Given the description of an element on the screen output the (x, y) to click on. 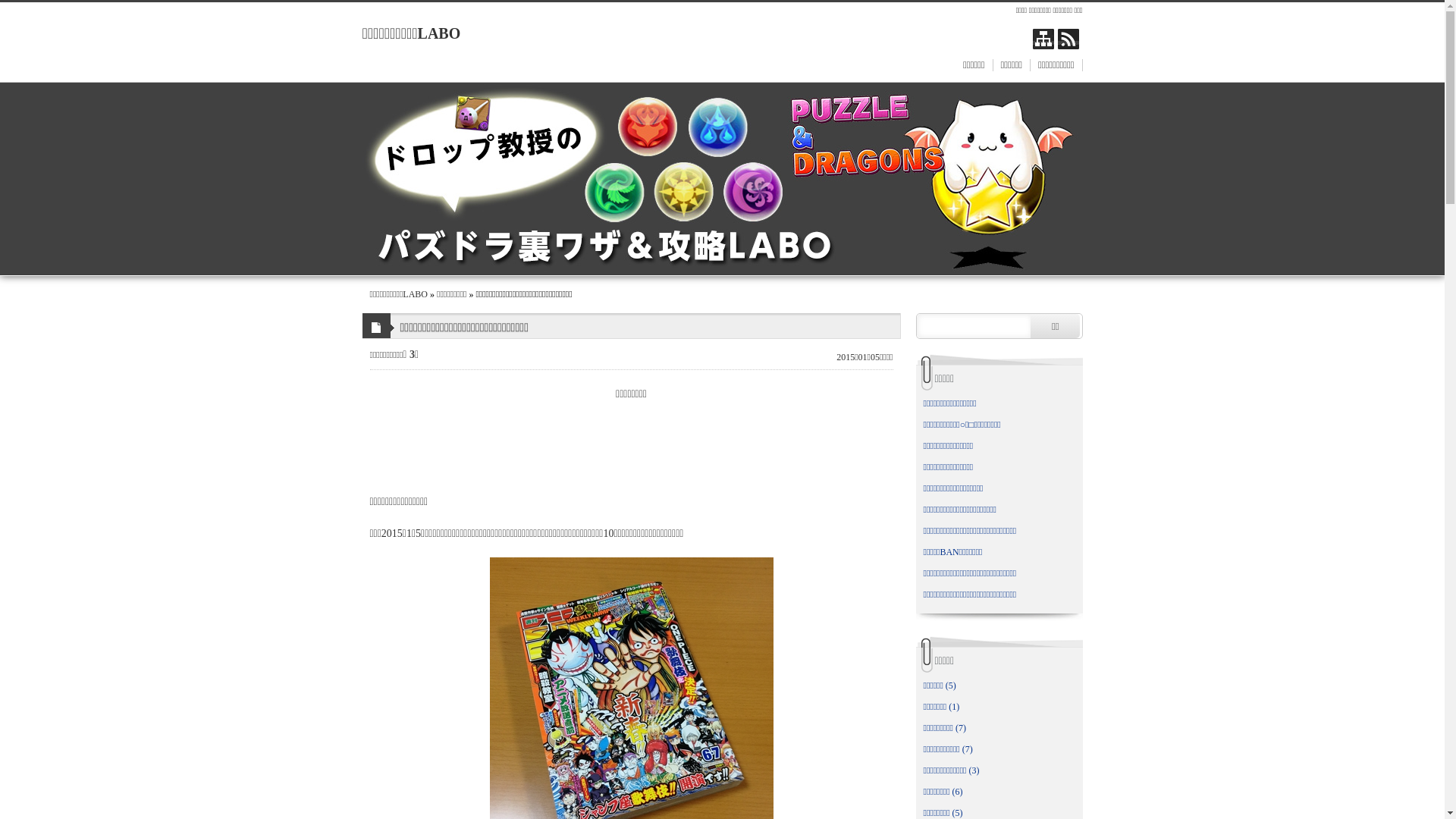
Advertisement Element type: hover (630, 439)
